Given the description of an element on the screen output the (x, y) to click on. 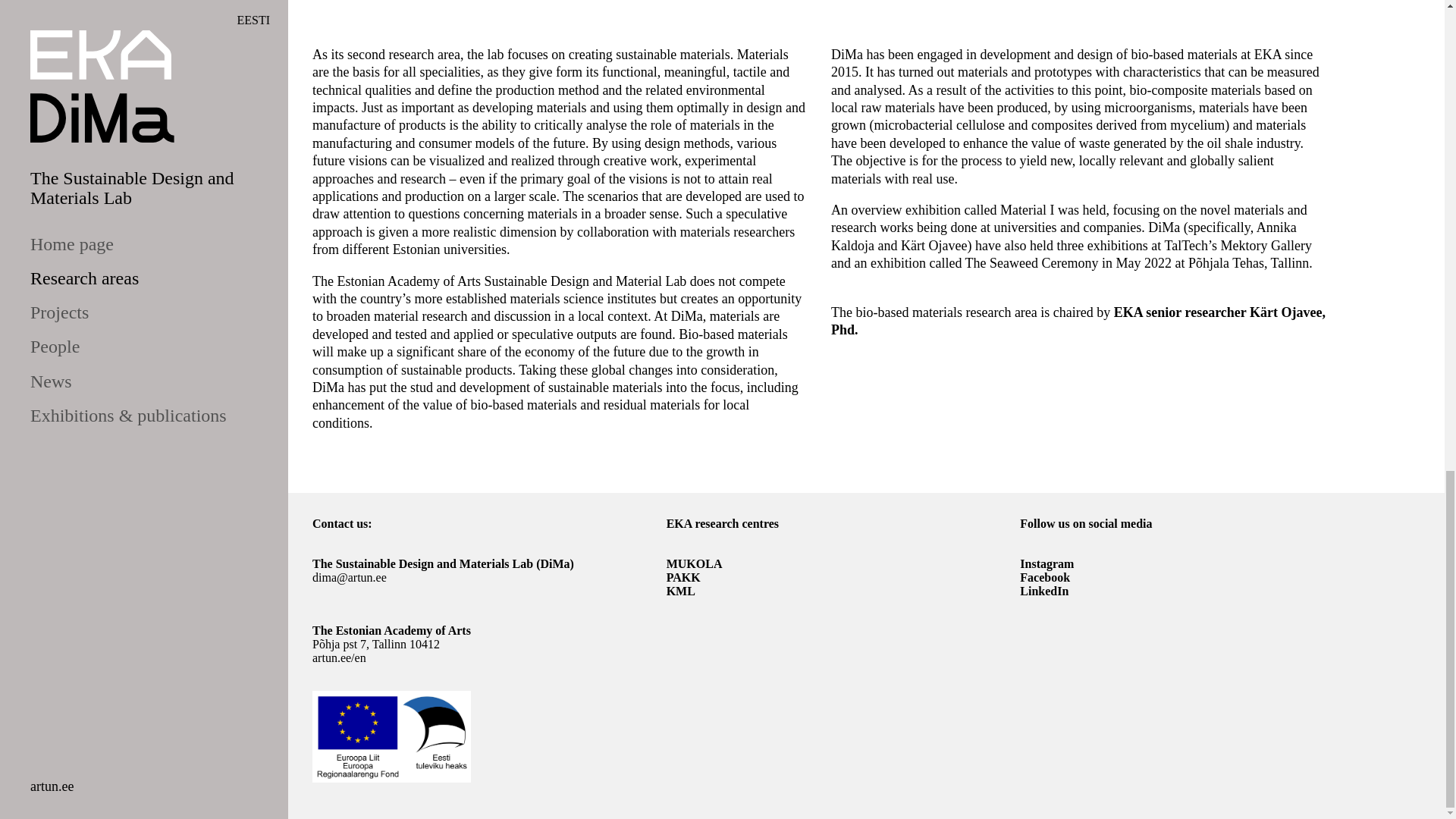
Facebook (1045, 576)
Instagram (1047, 563)
LinkedIn (1044, 590)
PAKK (683, 576)
